Given the description of an element on the screen output the (x, y) to click on. 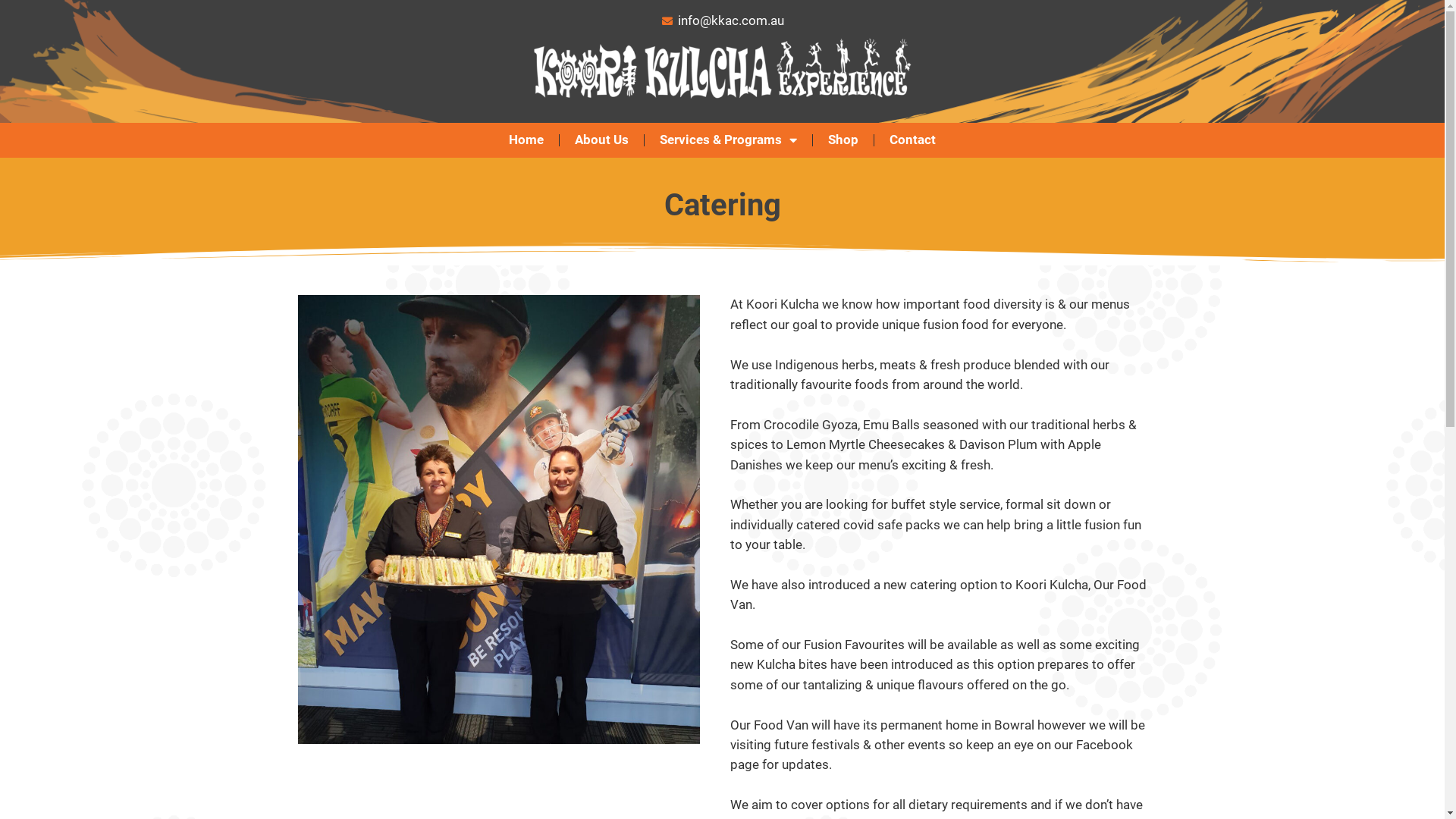
Shop Element type: text (842, 139)
About Us Element type: text (601, 139)
Contact Element type: text (912, 139)
Services & Programs Element type: text (728, 139)
Home Element type: text (525, 139)
